Given the description of an element on the screen output the (x, y) to click on. 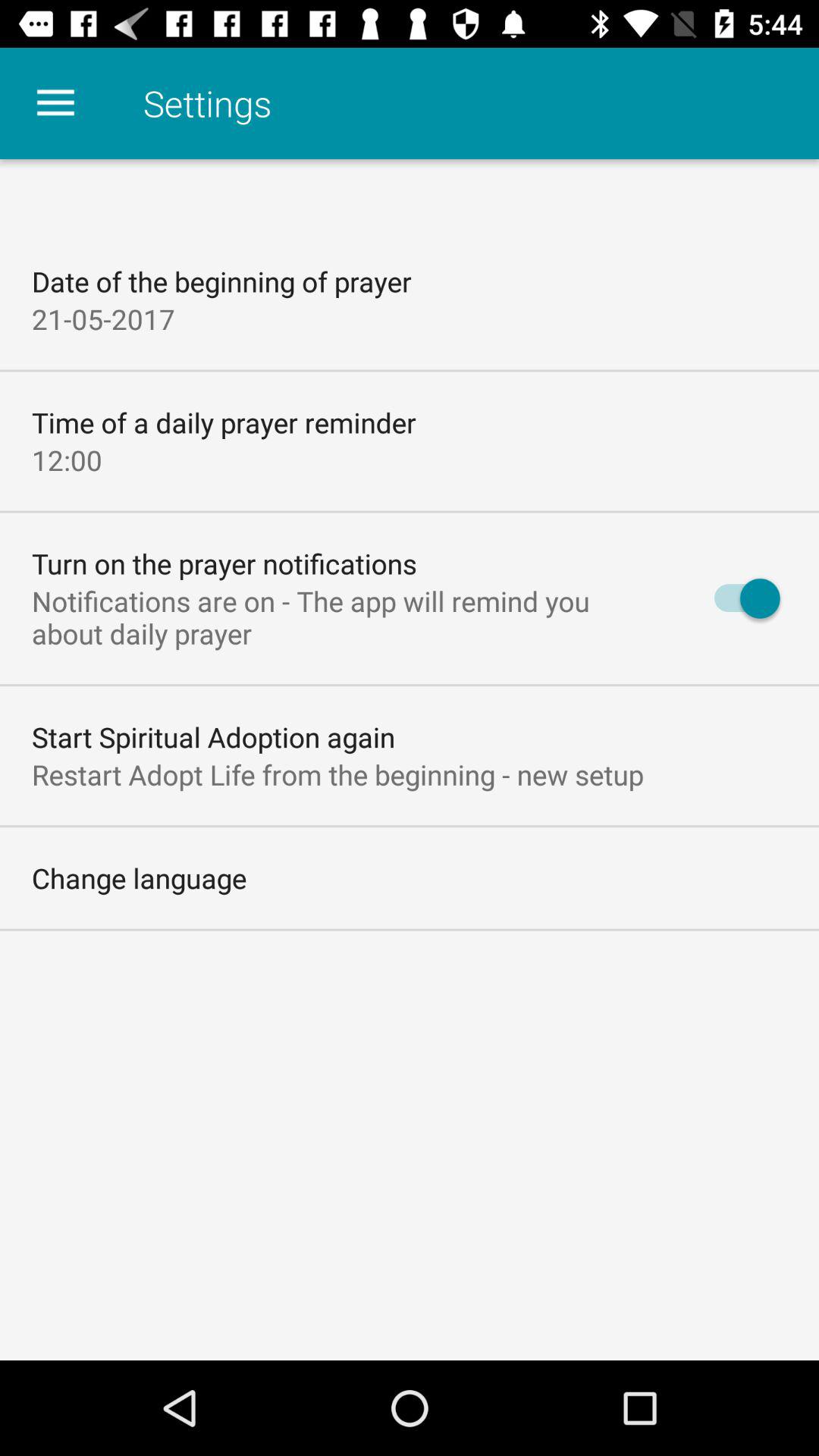
choose the item below start spiritual adoption icon (337, 774)
